Given the description of an element on the screen output the (x, y) to click on. 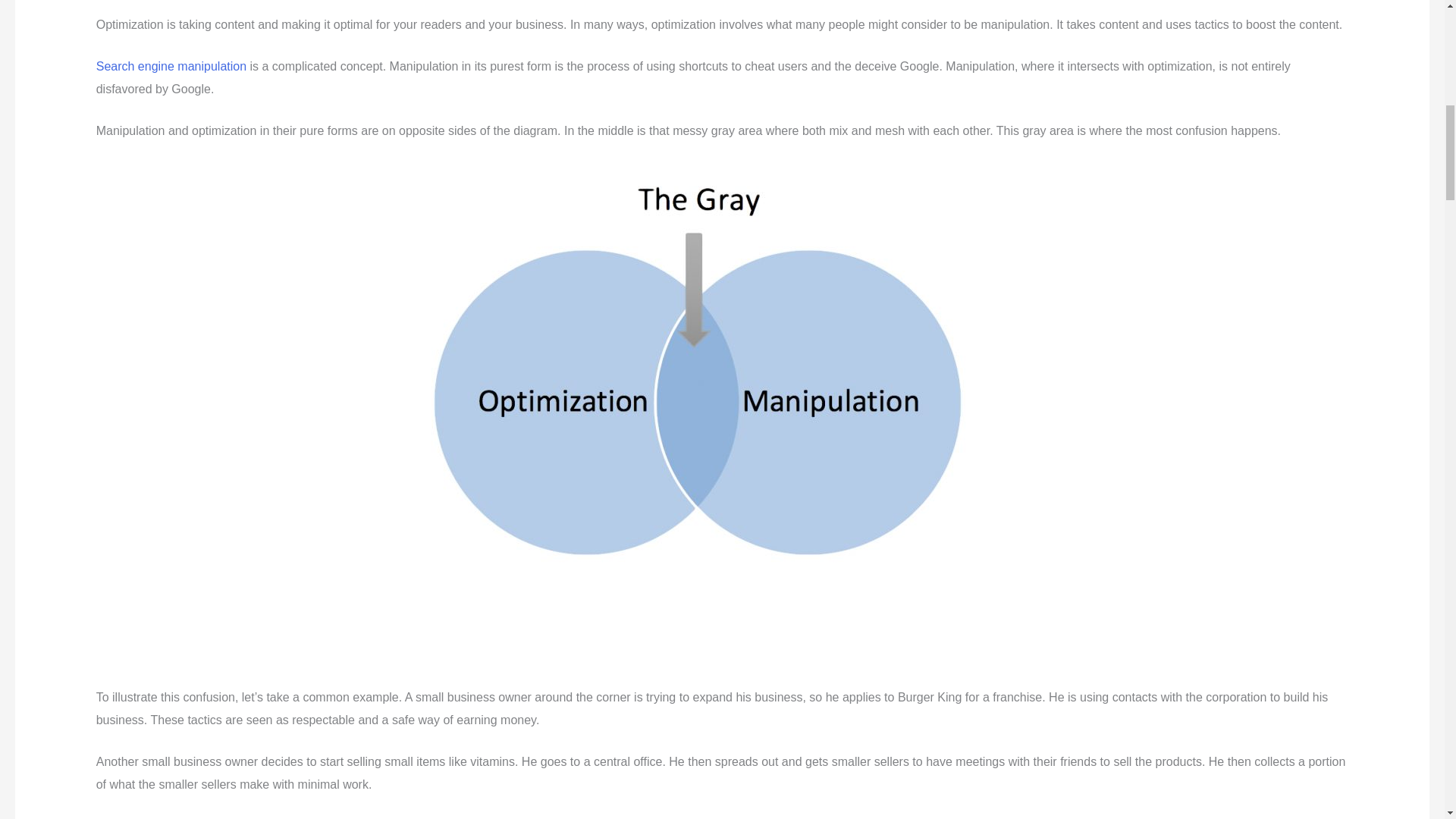
Search engine manipulation (171, 65)
